Given the description of an element on the screen output the (x, y) to click on. 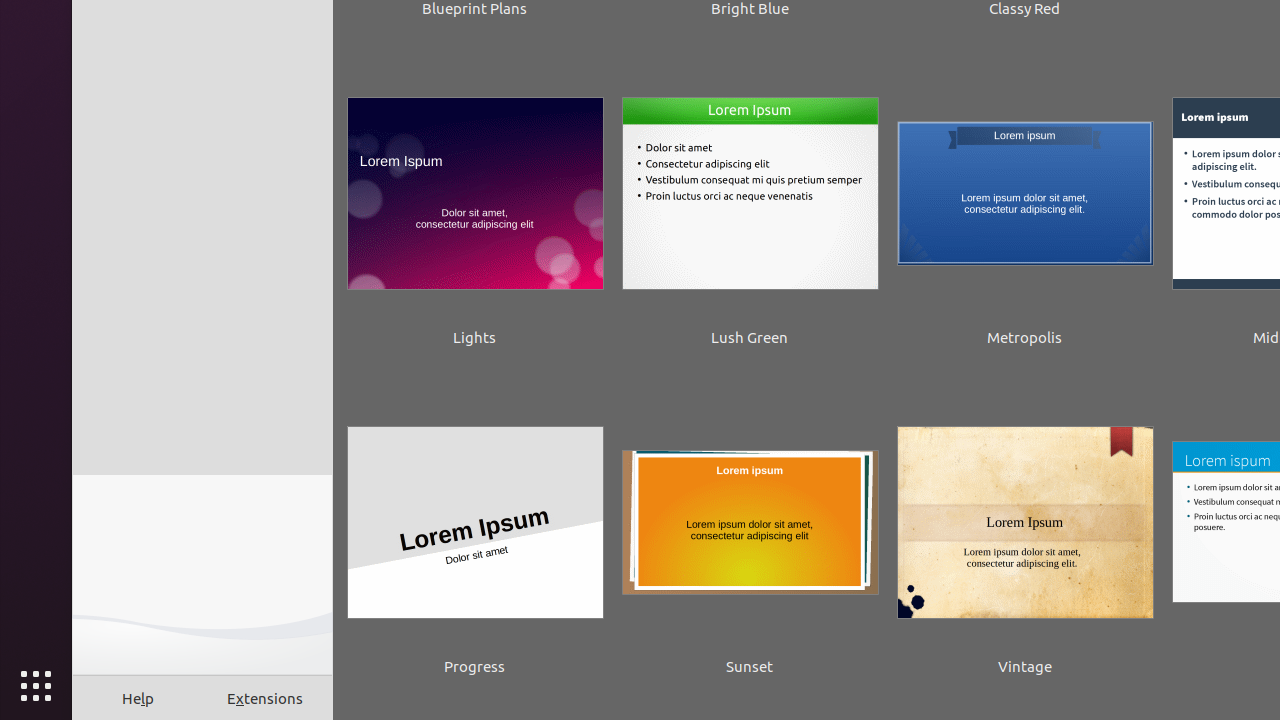
Progress Element type: list-item (475, 537)
Metropolis Element type: list-item (1025, 208)
Sunset Element type: list-item (750, 537)
Lights Element type: list-item (475, 208)
